Given the description of an element on the screen output the (x, y) to click on. 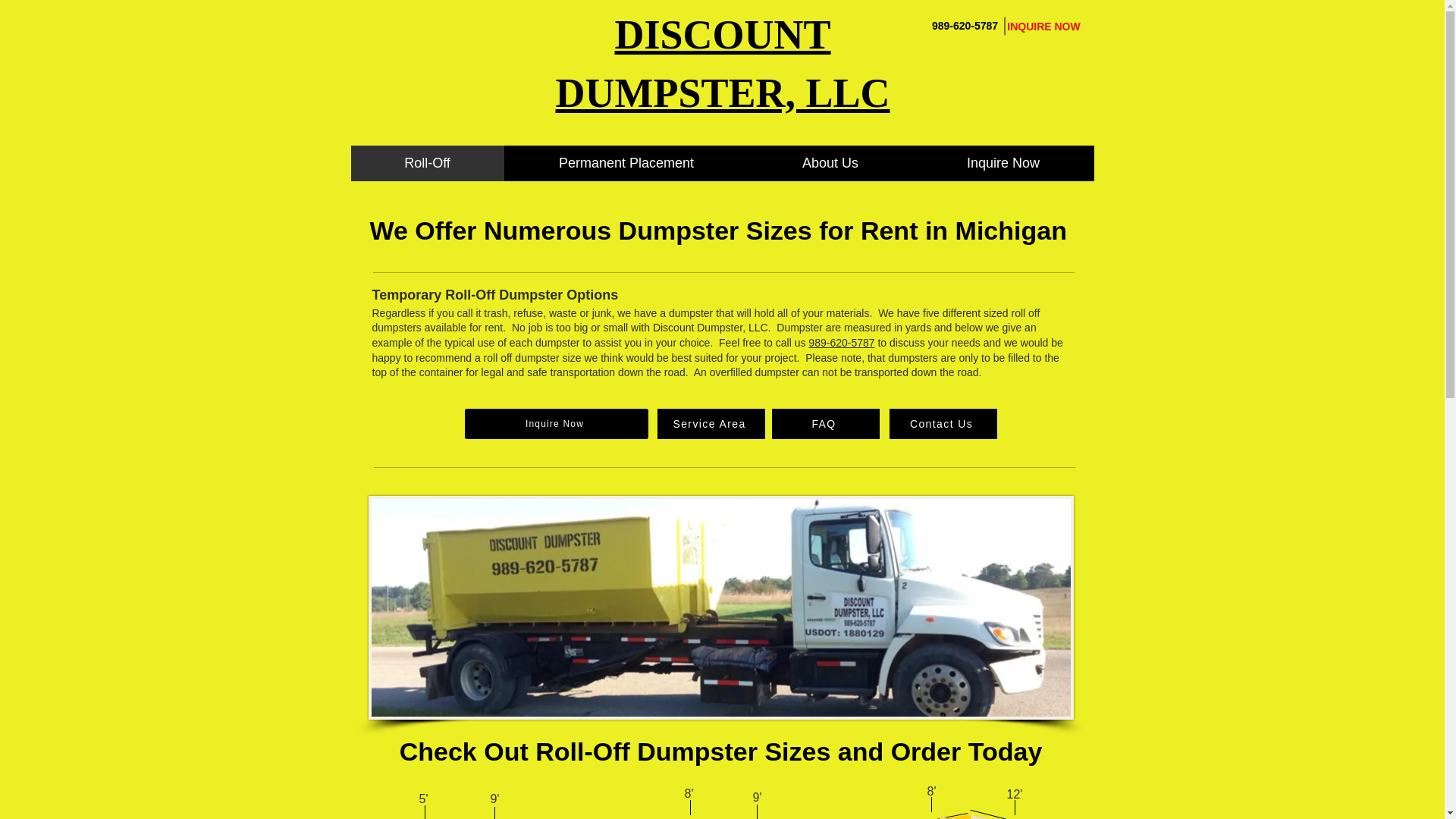
Permanent Placement (625, 162)
Inquire Now (555, 423)
Contact Us (941, 423)
FAQ (825, 423)
989-620-5787 (841, 342)
DISCOUNT DUMPSTER, LLC (721, 63)
Inquire Now (1002, 162)
About Us (829, 162)
Embedded Content (720, 410)
Service Area (710, 423)
